Given the description of an element on the screen output the (x, y) to click on. 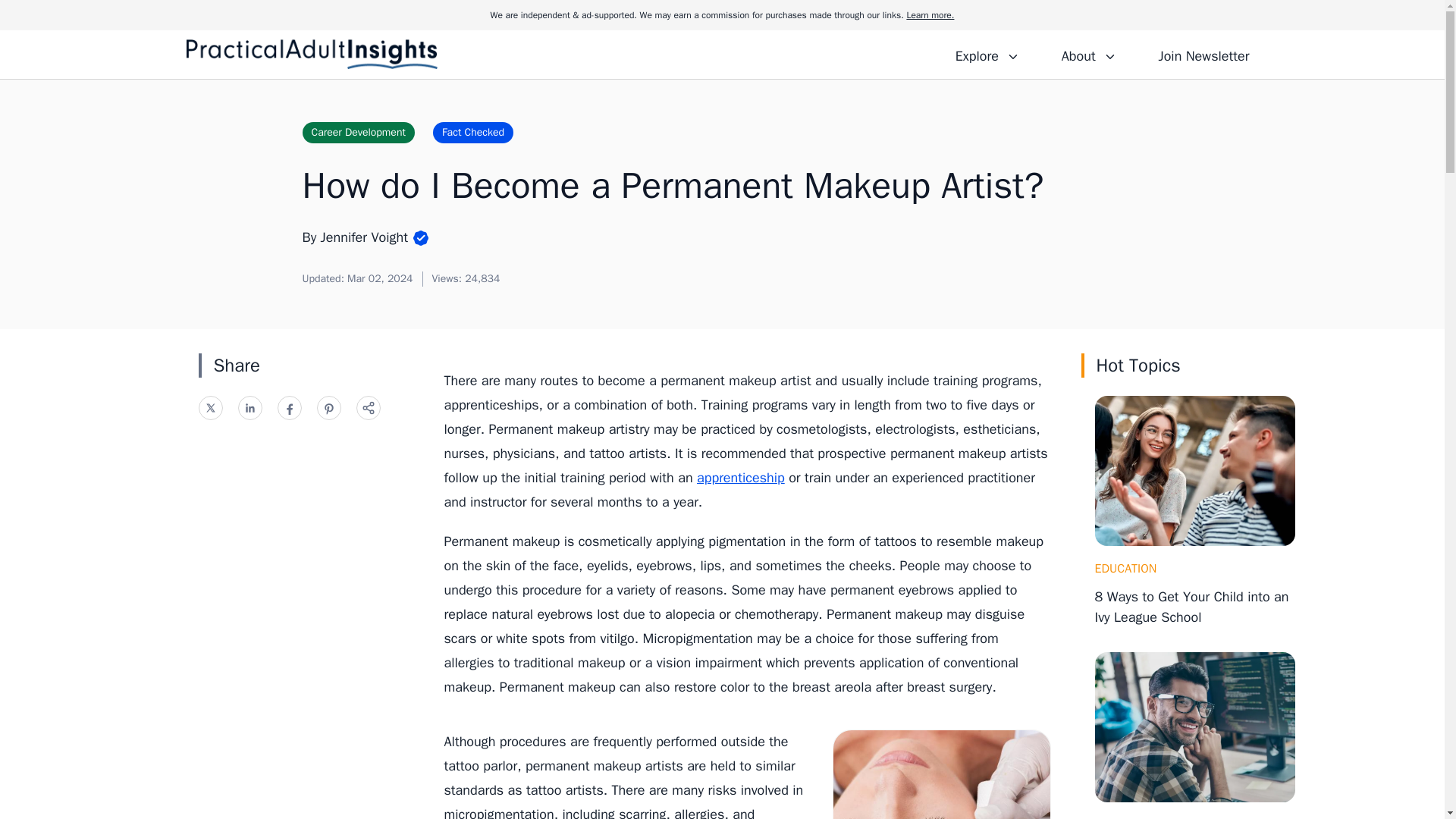
About (1088, 54)
Career Development (357, 132)
Join Newsletter (1202, 54)
Fact Checked (472, 132)
apprenticeship (740, 477)
Learn more. (929, 15)
Explore (986, 54)
